Given the description of an element on the screen output the (x, y) to click on. 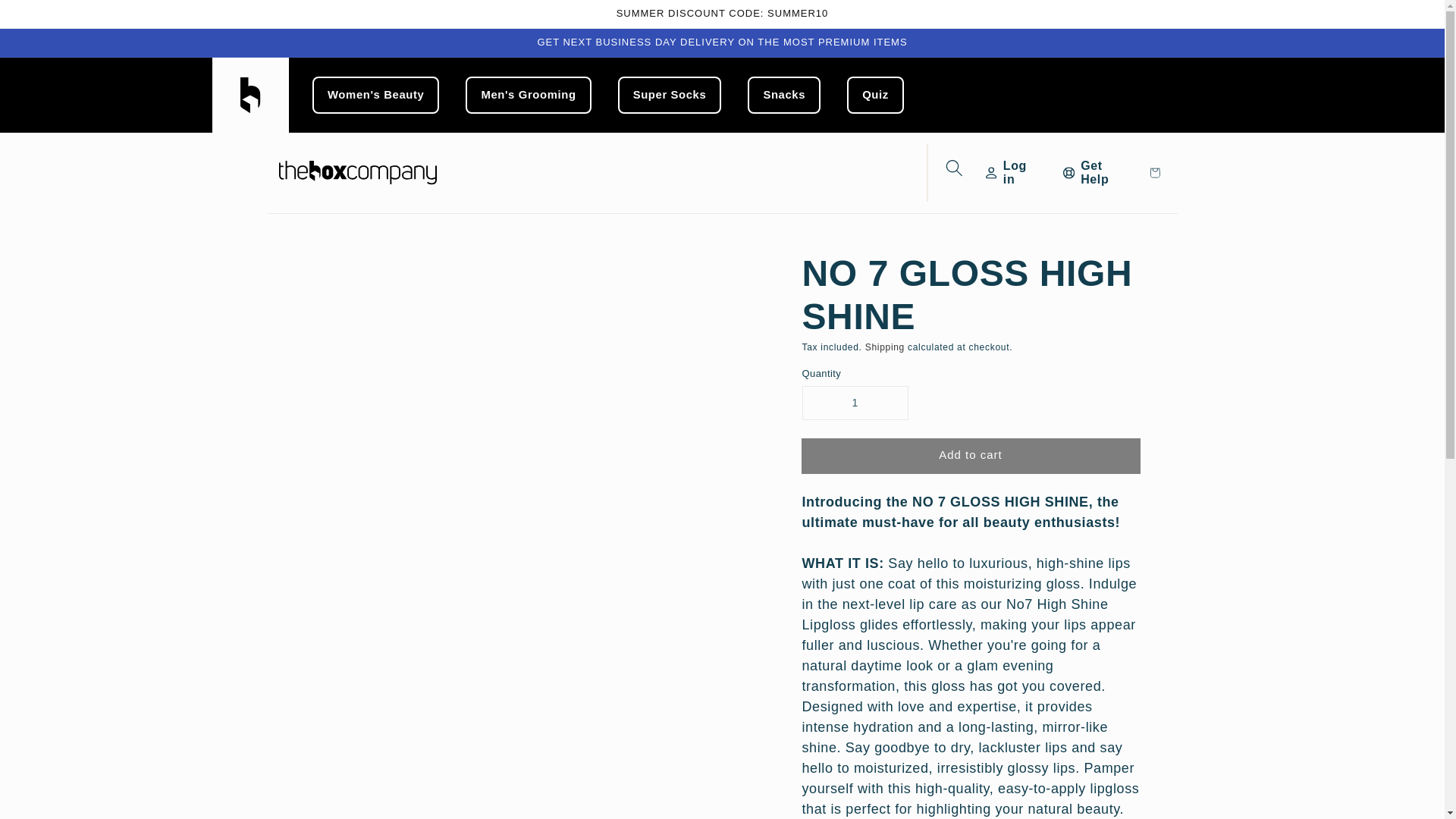
Skip to content (45, 16)
Log in (1012, 172)
Snacks (784, 94)
Get Help (1096, 172)
Men's Grooming (528, 94)
Women's Beauty (376, 94)
Shipping (884, 347)
1 (854, 402)
Super Socks (669, 94)
Add to cart (971, 455)
Skip to product information (350, 267)
Quiz (875, 94)
